Given the description of an element on the screen output the (x, y) to click on. 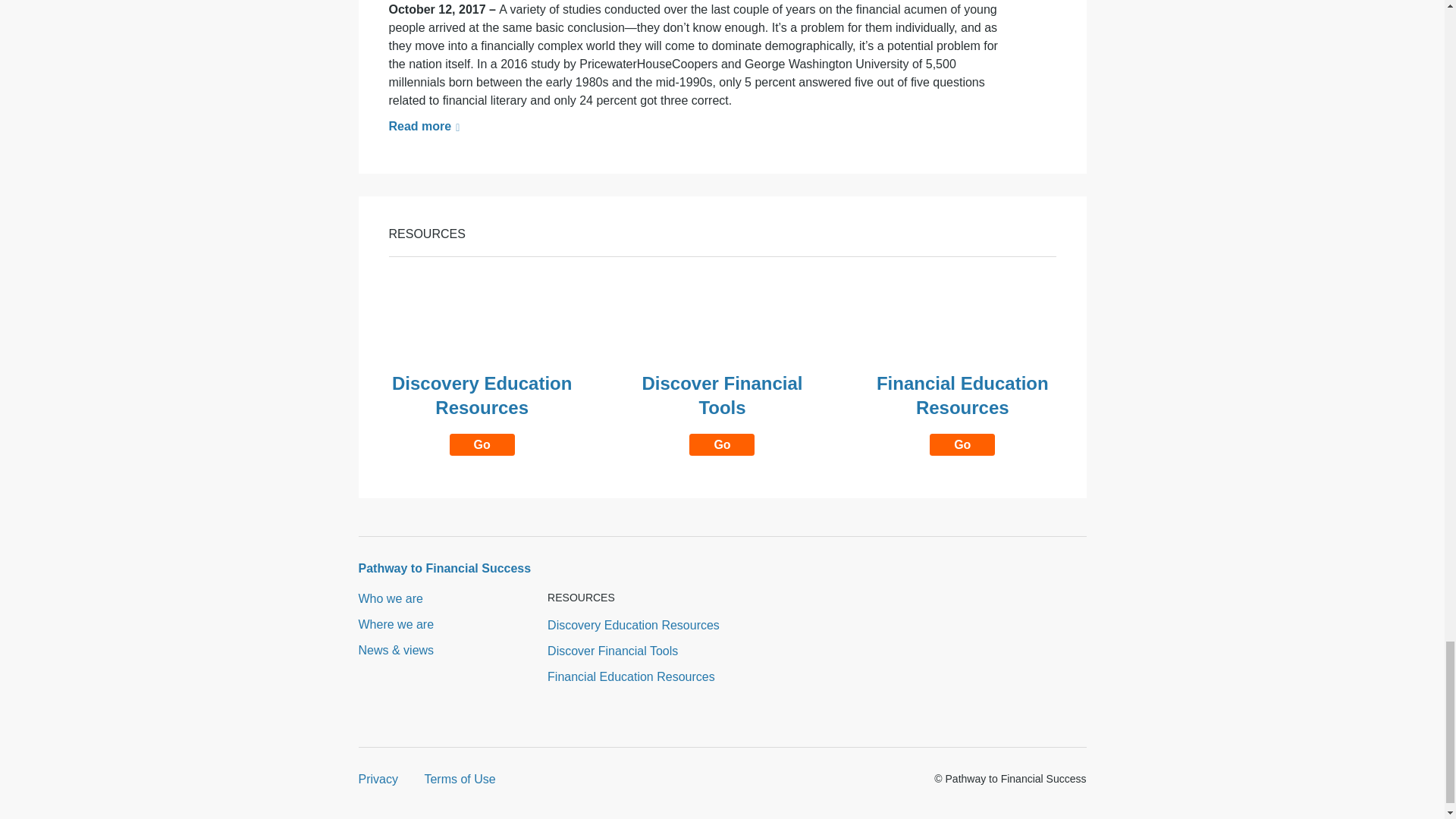
Discovery Education Resources (481, 413)
Privacy (633, 625)
Financial Education Resources (377, 779)
Who we are (630, 676)
Pathway to Financial Success (721, 413)
Where we are (390, 598)
Terms of Use (444, 567)
Read more (962, 413)
Discover Financial Tools (395, 624)
